Given the description of an element on the screen output the (x, y) to click on. 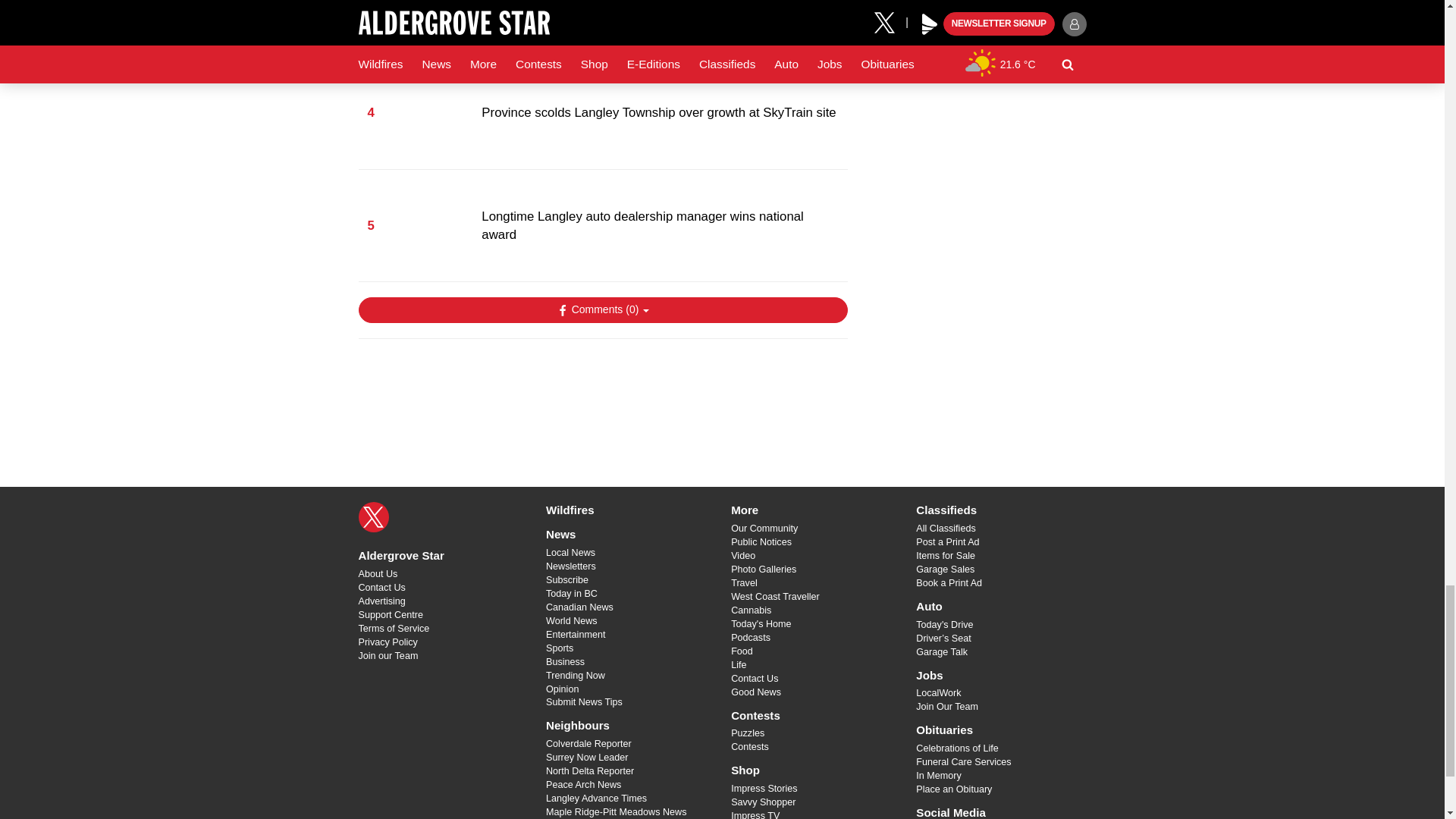
Show Comments (602, 309)
X (373, 517)
